Given the description of an element on the screen output the (x, y) to click on. 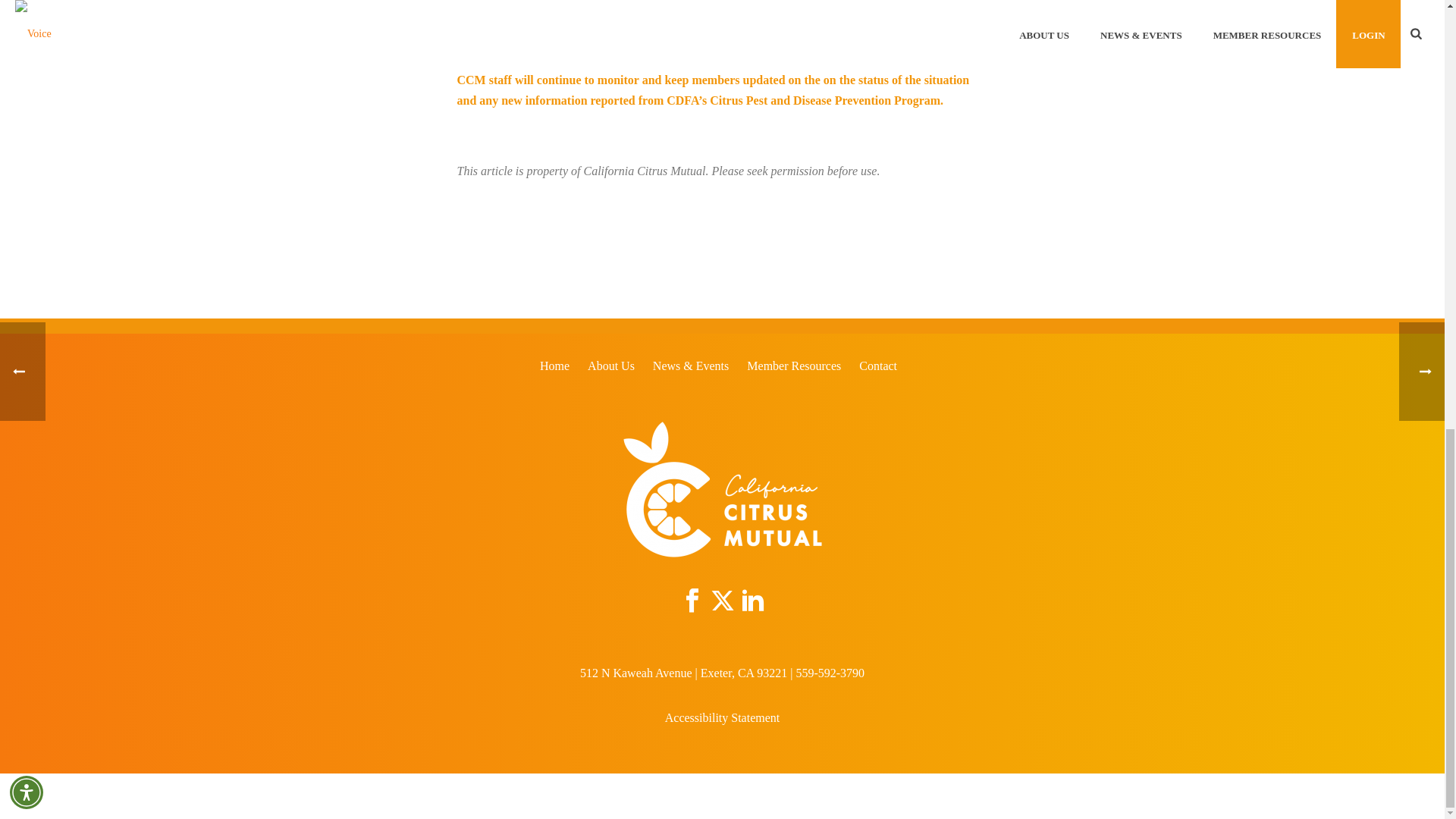
logo-white (721, 489)
